Given the description of an element on the screen output the (x, y) to click on. 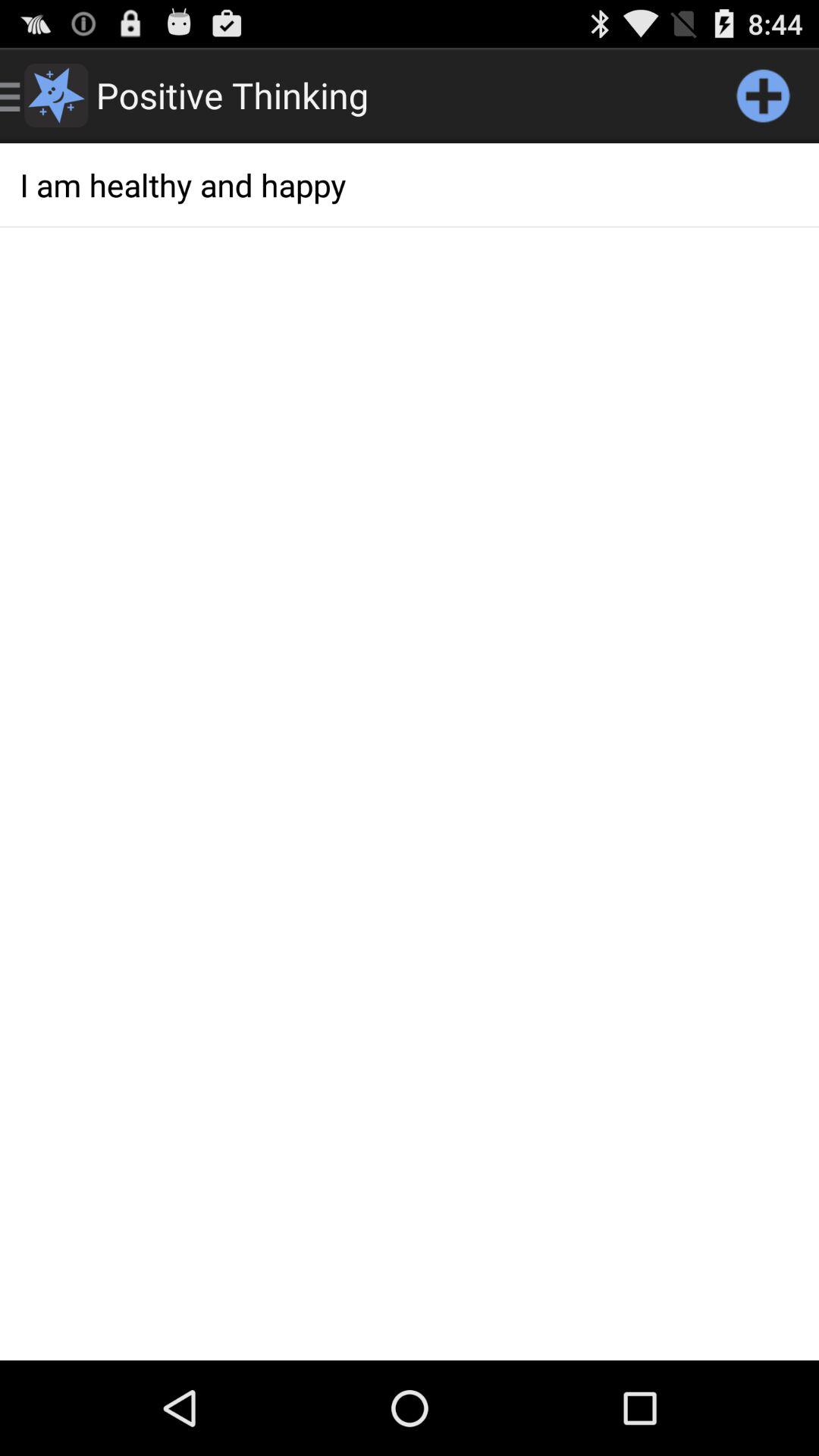
choose i am healthy (409, 184)
